Given the description of an element on the screen output the (x, y) to click on. 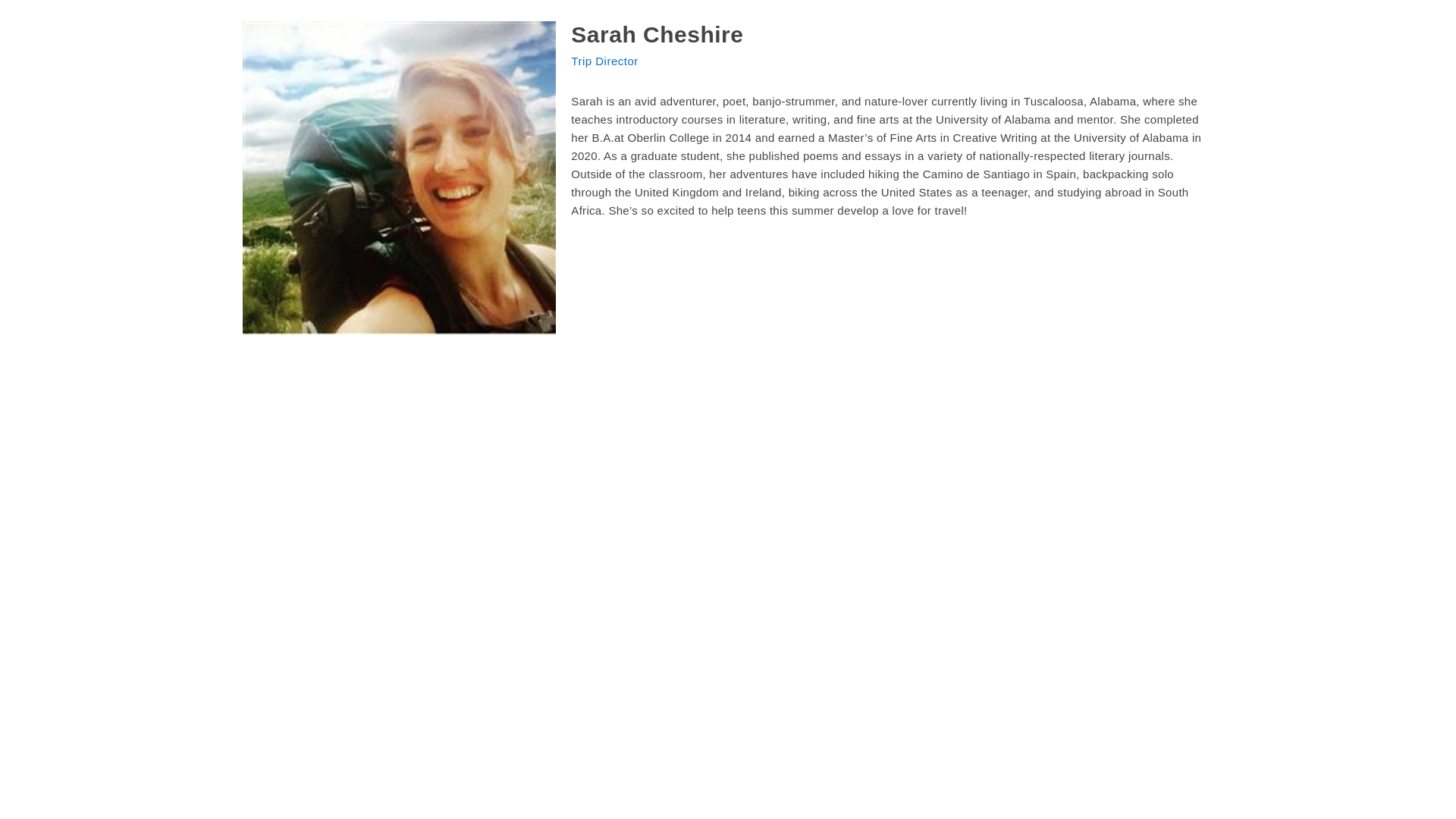
Sarah c (399, 177)
